Given the description of an element on the screen output the (x, y) to click on. 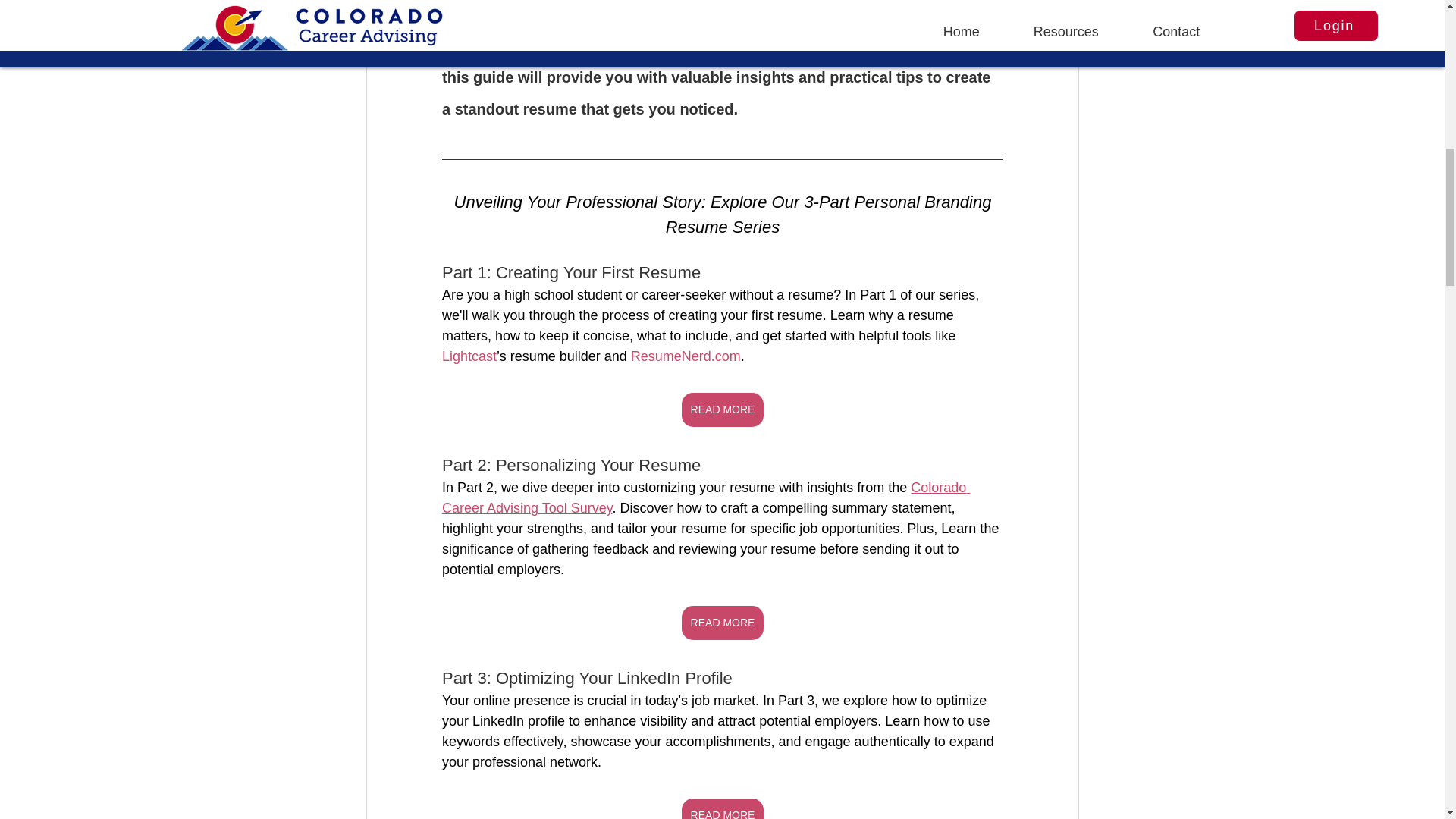
READ MORE (721, 409)
Colorado Career Advising Tool Survey (705, 497)
ResumeNerd.com (684, 355)
READ MORE (721, 622)
Lightcast (468, 355)
READ MORE (721, 808)
